Given the description of an element on the screen output the (x, y) to click on. 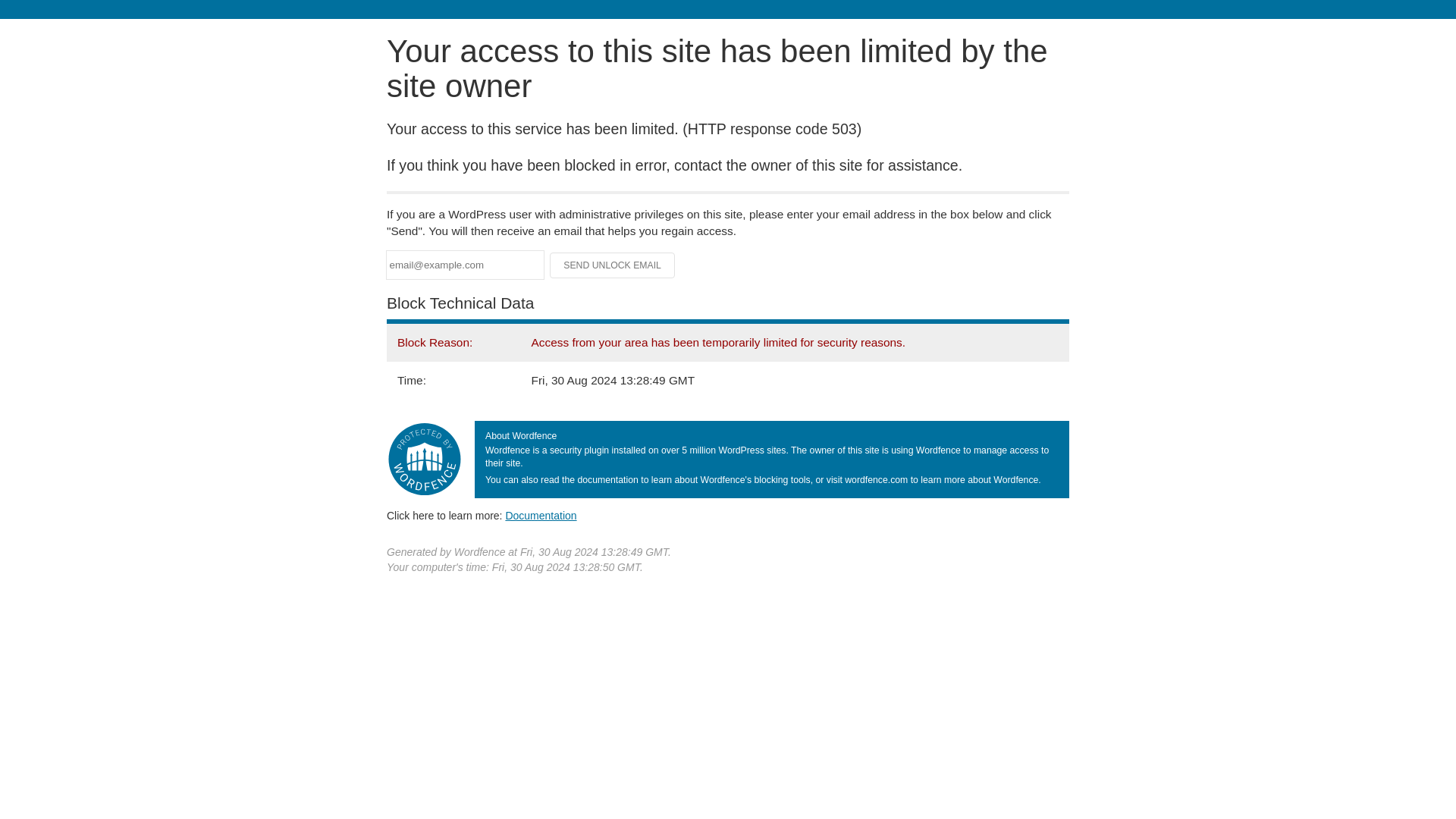
Send Unlock Email (612, 265)
Documentation (540, 515)
Send Unlock Email (612, 265)
